Given the description of an element on the screen output the (x, y) to click on. 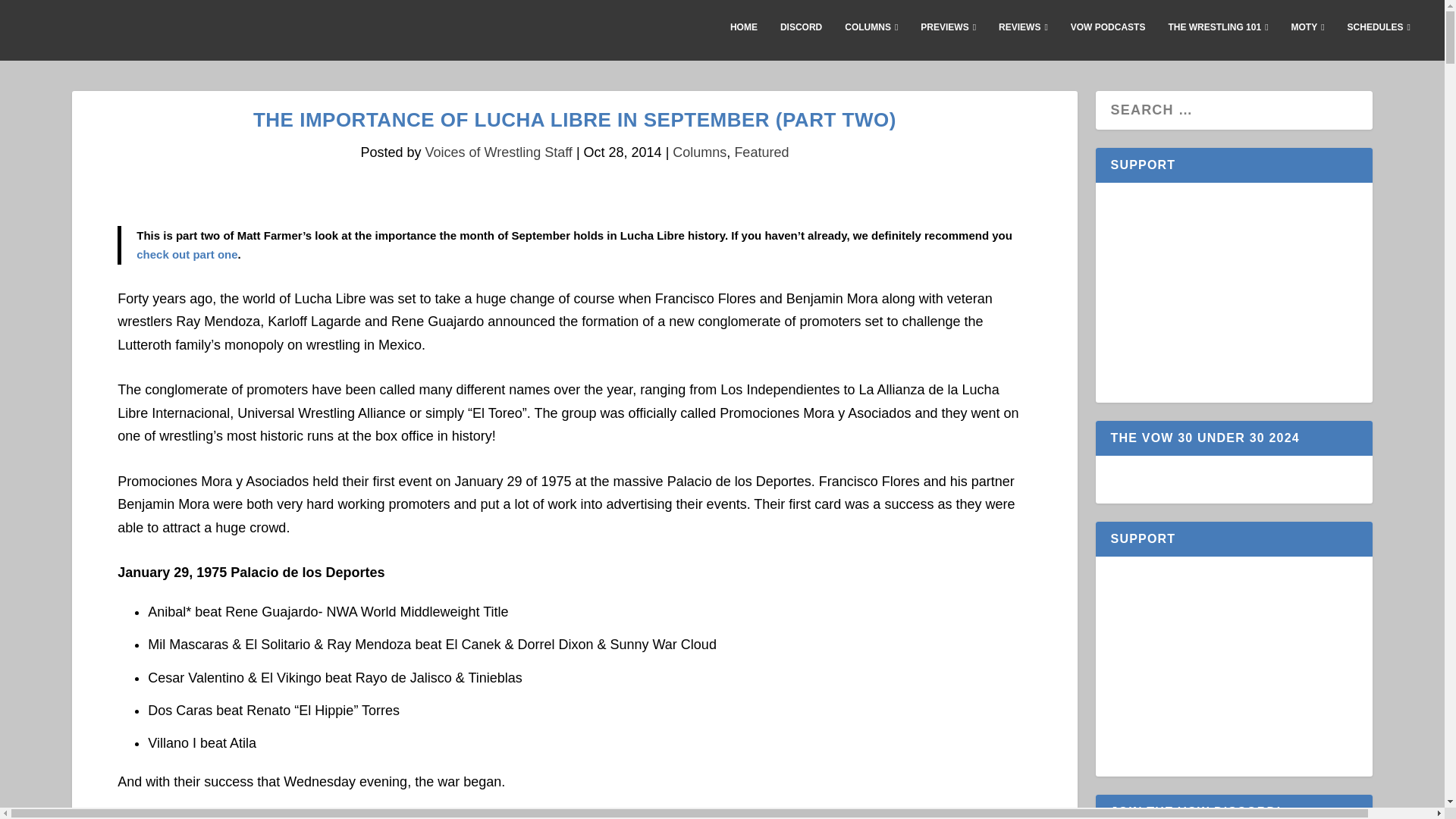
DISCORD (801, 39)
Posts by Voices of Wrestling Staff (498, 151)
PREVIEWS (947, 39)
THE WRESTLING 101 (1217, 39)
VOW PODCASTS (1107, 39)
COLUMNS (871, 39)
REVIEWS (1023, 39)
